Given the description of an element on the screen output the (x, y) to click on. 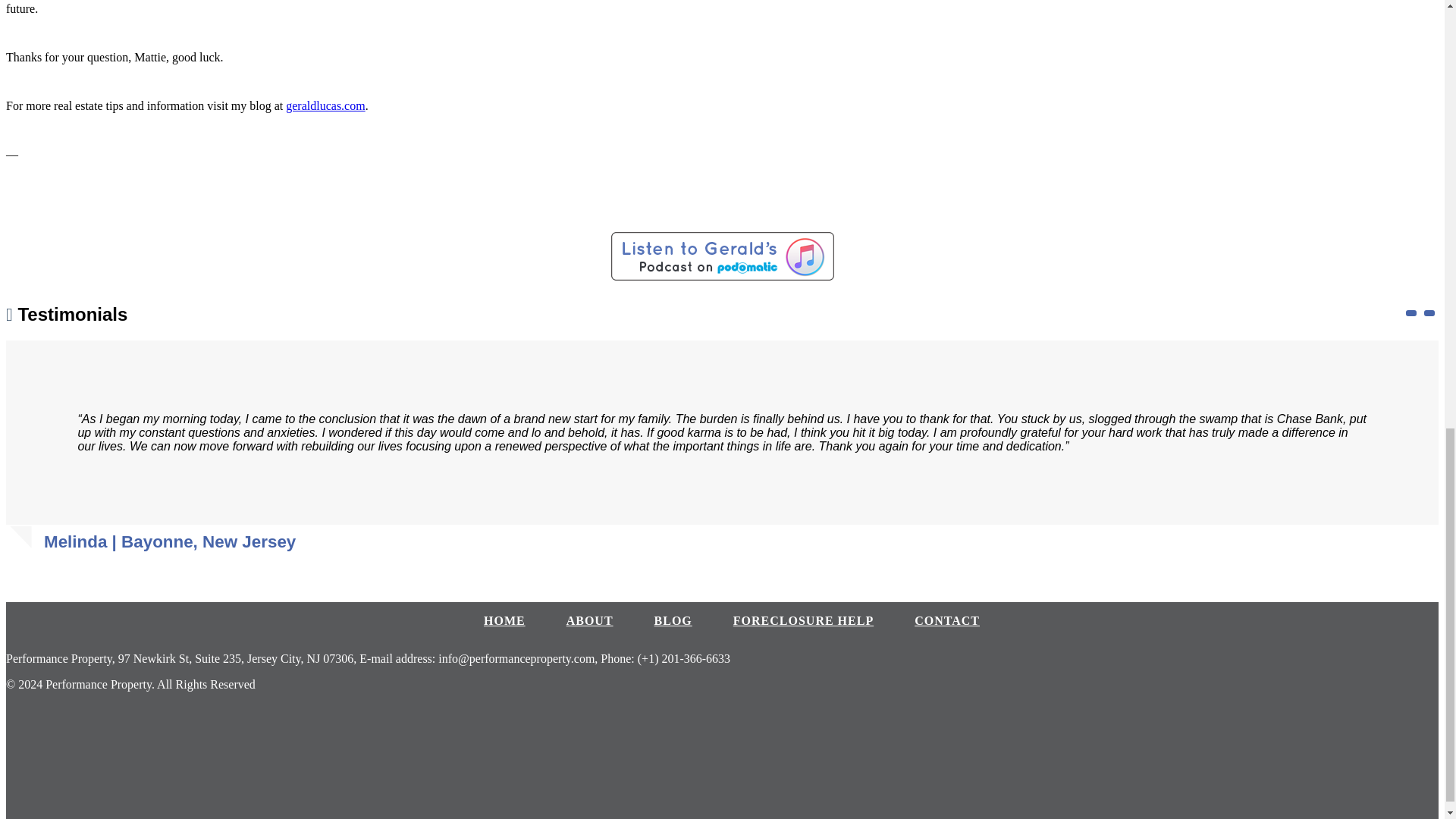
HOME (504, 620)
BLOG (673, 620)
ABOUT (589, 620)
FORECLOSURE HELP (803, 620)
geraldlucas.com (325, 105)
CONTACT (946, 620)
